Given the description of an element on the screen output the (x, y) to click on. 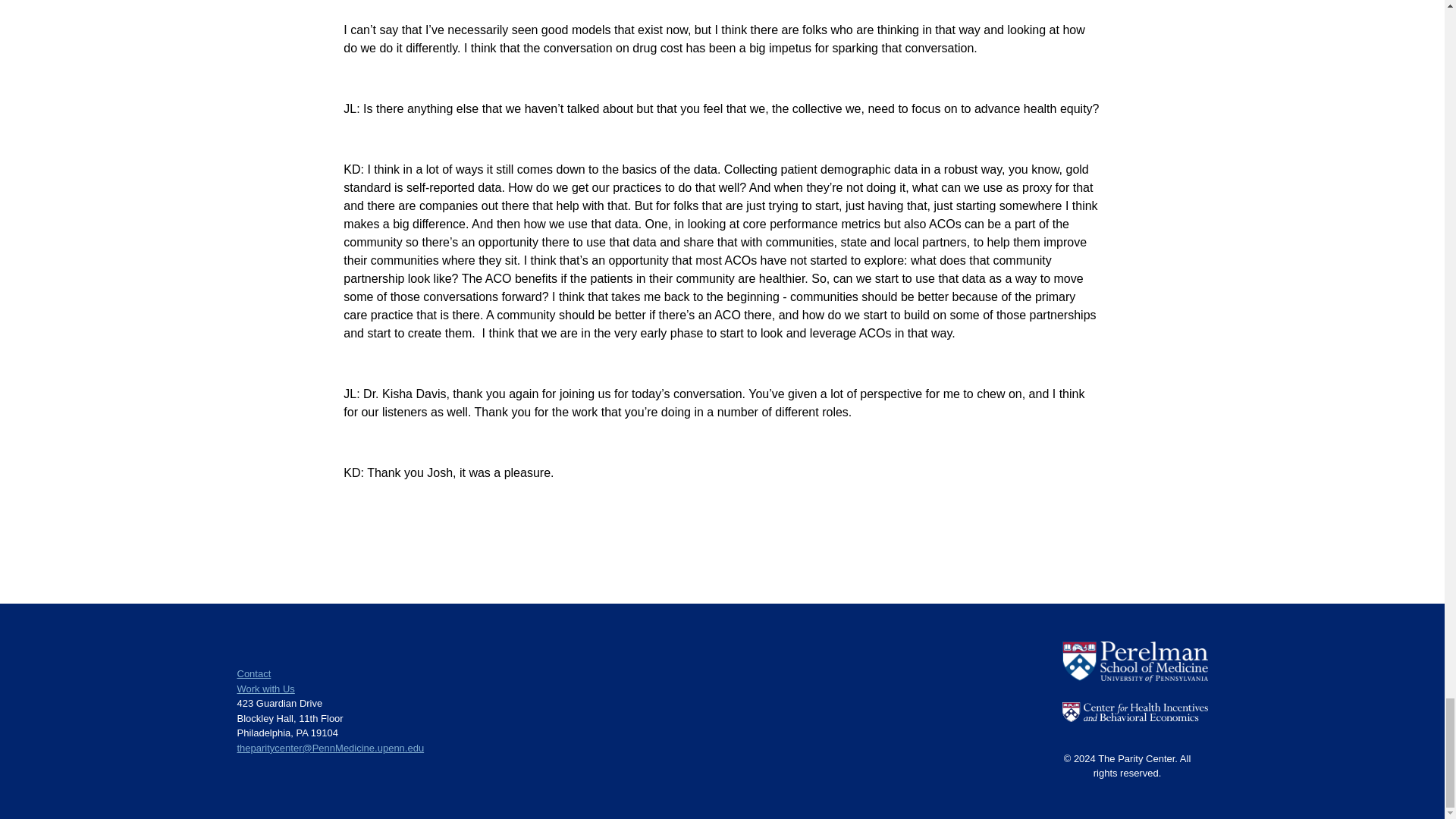
Work with Us (264, 688)
Go to the Perelman School of Medicine Website (1134, 678)
Contact (252, 673)
